Given the description of an element on the screen output the (x, y) to click on. 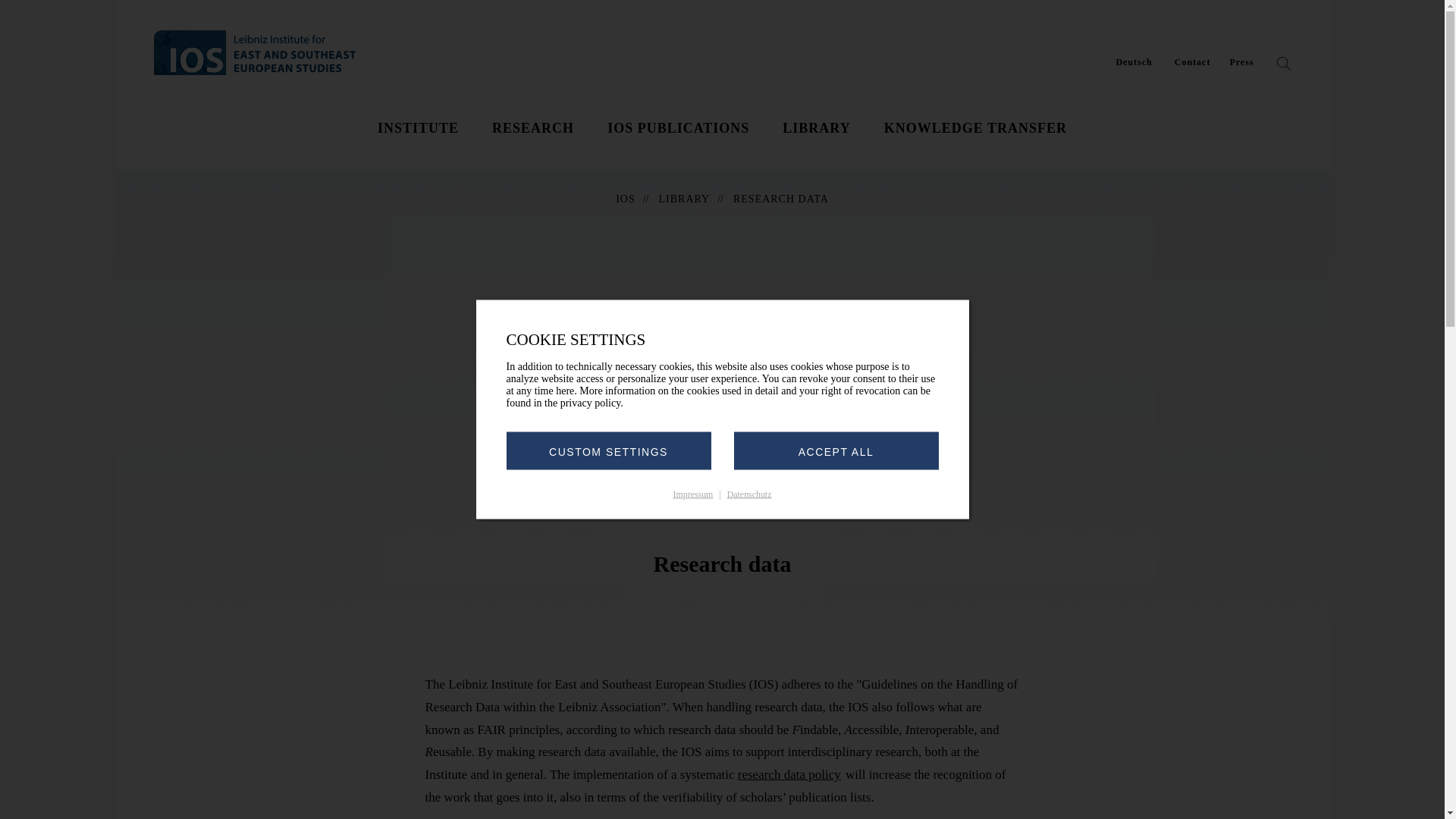
Contact (1192, 62)
Institute (417, 127)
Deutsch (1133, 62)
RESEARCH (532, 127)
KNOWLEDGE TRANSFER (975, 127)
Library (816, 127)
Research (532, 127)
IOS PUBLICATIONS (678, 127)
Press (1240, 62)
IOS Publications (678, 127)
INSTITUTE (417, 127)
Deutsch (1133, 62)
LIBRARY (816, 127)
Knowledge Transfer (975, 127)
Press (1240, 62)
